Given the description of an element on the screen output the (x, y) to click on. 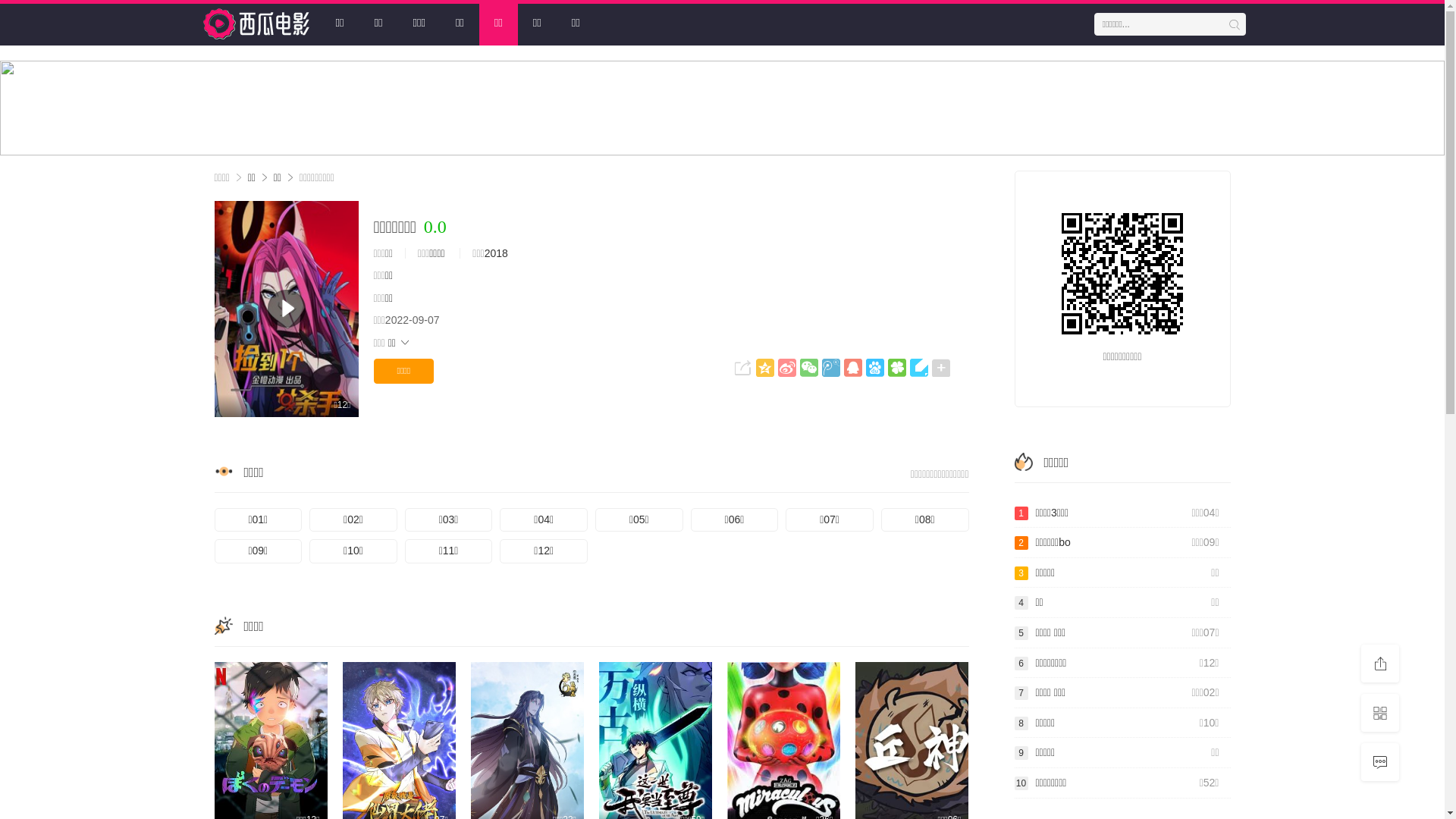
http://www.xiguac.com/vodhtml/46362.html?bqjmto=x0iv9 Element type: hover (1121, 273)
2018 Element type: text (496, 253)
2021 Element type: hover (722, 107)
